Given the description of an element on the screen output the (x, y) to click on. 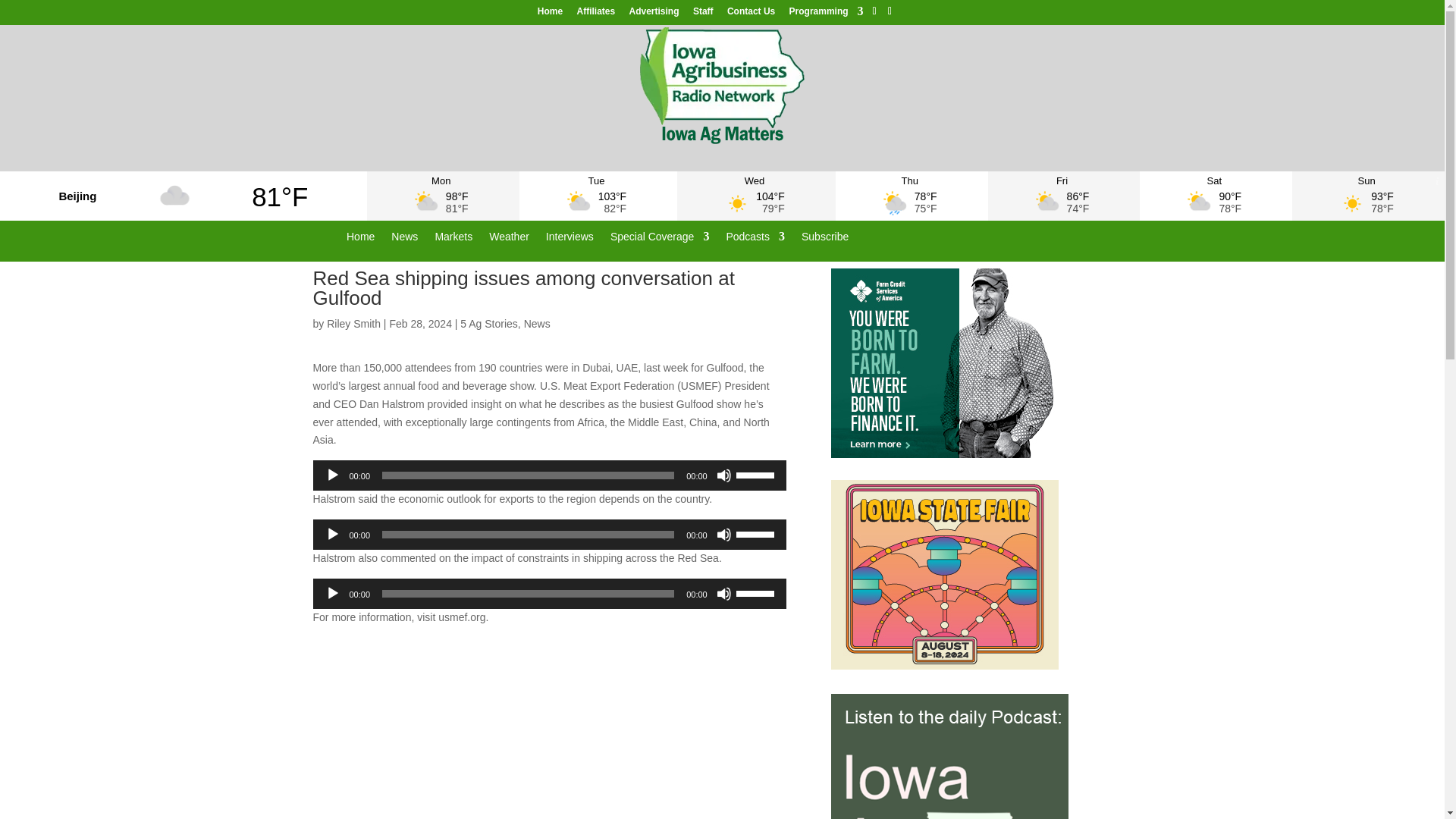
Play (331, 593)
Posts by Riley Smith (353, 323)
Advertising (653, 14)
Mute (724, 534)
Iowa-Ag-Matters-Podcast-Resized (949, 756)
Programming (826, 14)
18080-brand-born-to-farm-green-FCSA-300x250 (944, 362)
Staff (703, 14)
Home (549, 14)
Mute (724, 593)
Mute (724, 475)
Play (331, 534)
Affiliates (595, 14)
Contact Us (750, 14)
Play (331, 475)
